Given the description of an element on the screen output the (x, y) to click on. 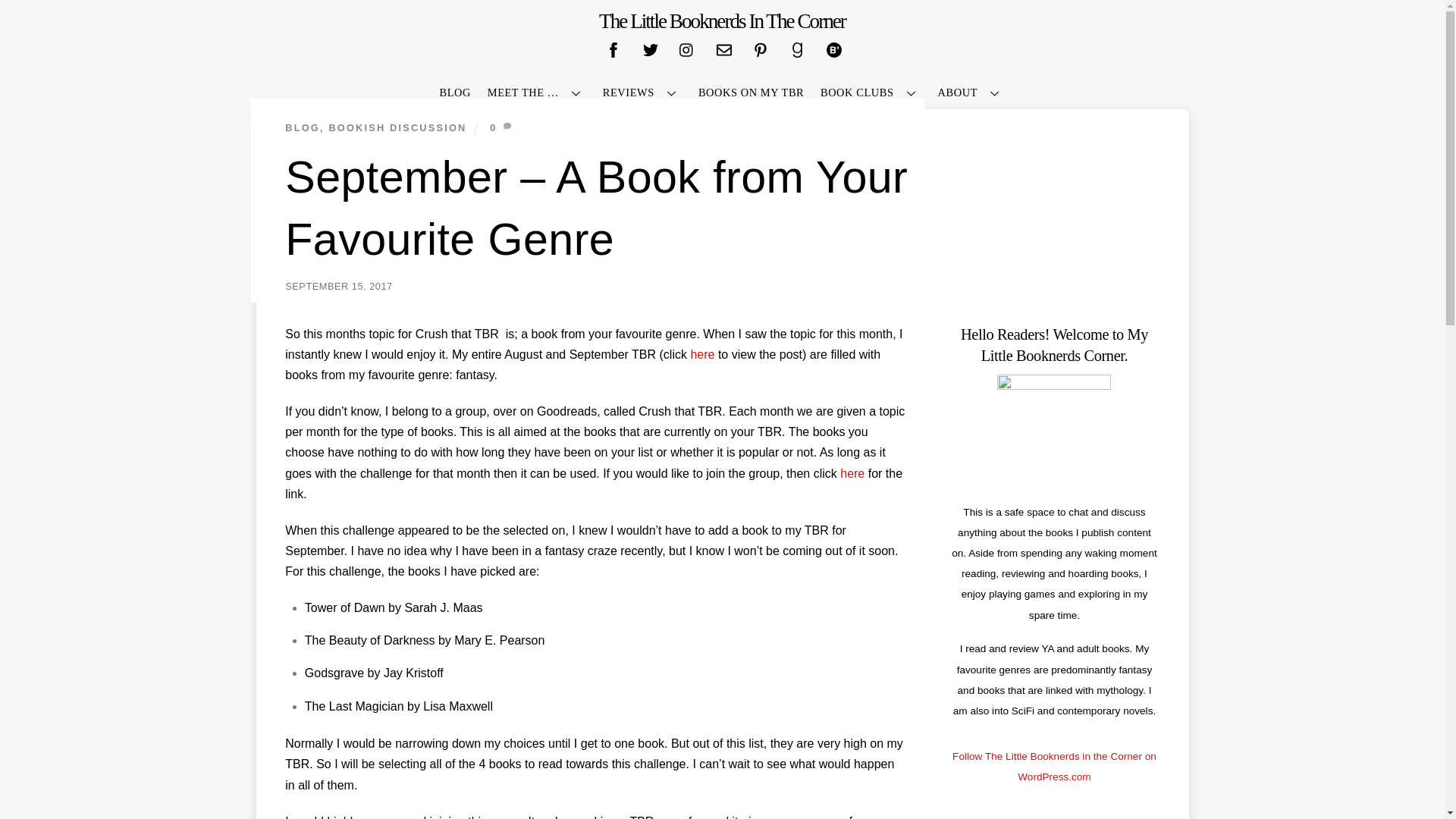
here (702, 354)
The Little Booknerds In The Corner (721, 20)
ABOUT (971, 92)
BLOG (302, 127)
here (852, 472)
BLOG (454, 92)
Neverending TBR (722, 148)
The Little Booknerds in the Corner (721, 20)
BOOKISH DISCUSSION (397, 127)
BOOKS ON MY TBR (750, 92)
REVIEWS (641, 92)
BOOK CLUBS (870, 92)
